Given the description of an element on the screen output the (x, y) to click on. 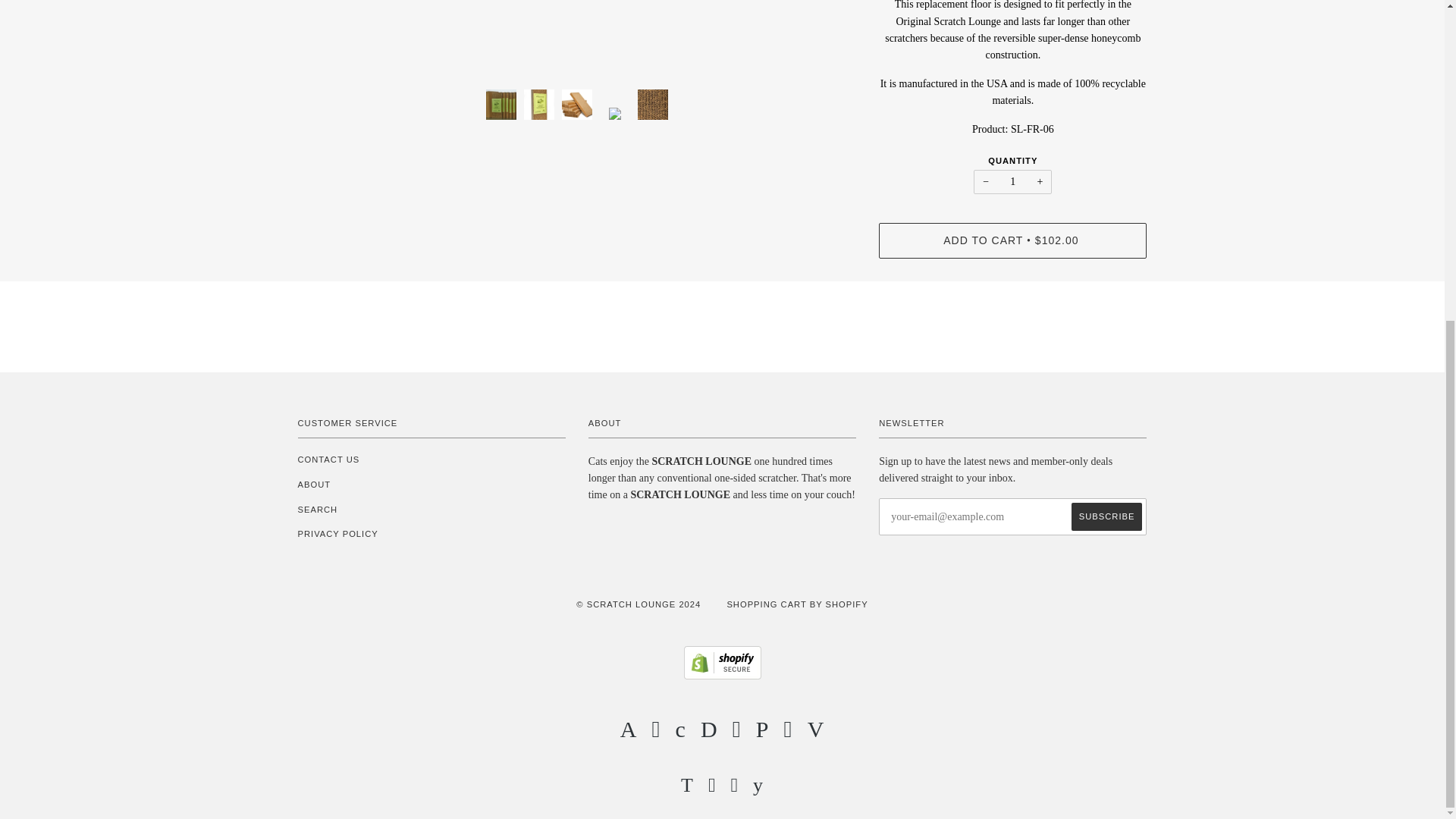
ABOUT (313, 483)
Scratch Lounge  on Facebook (711, 788)
Scratch Lounge  on Youtube (757, 788)
CONTACT US (328, 459)
Subscribe (1106, 516)
Scratch Lounge  on Instagram (734, 788)
Scratch Lounge  on Twitter (687, 788)
PRIVACY POLICY (337, 533)
This online store is secured by Shopify (722, 675)
SEARCH (317, 509)
